Given the description of an element on the screen output the (x, y) to click on. 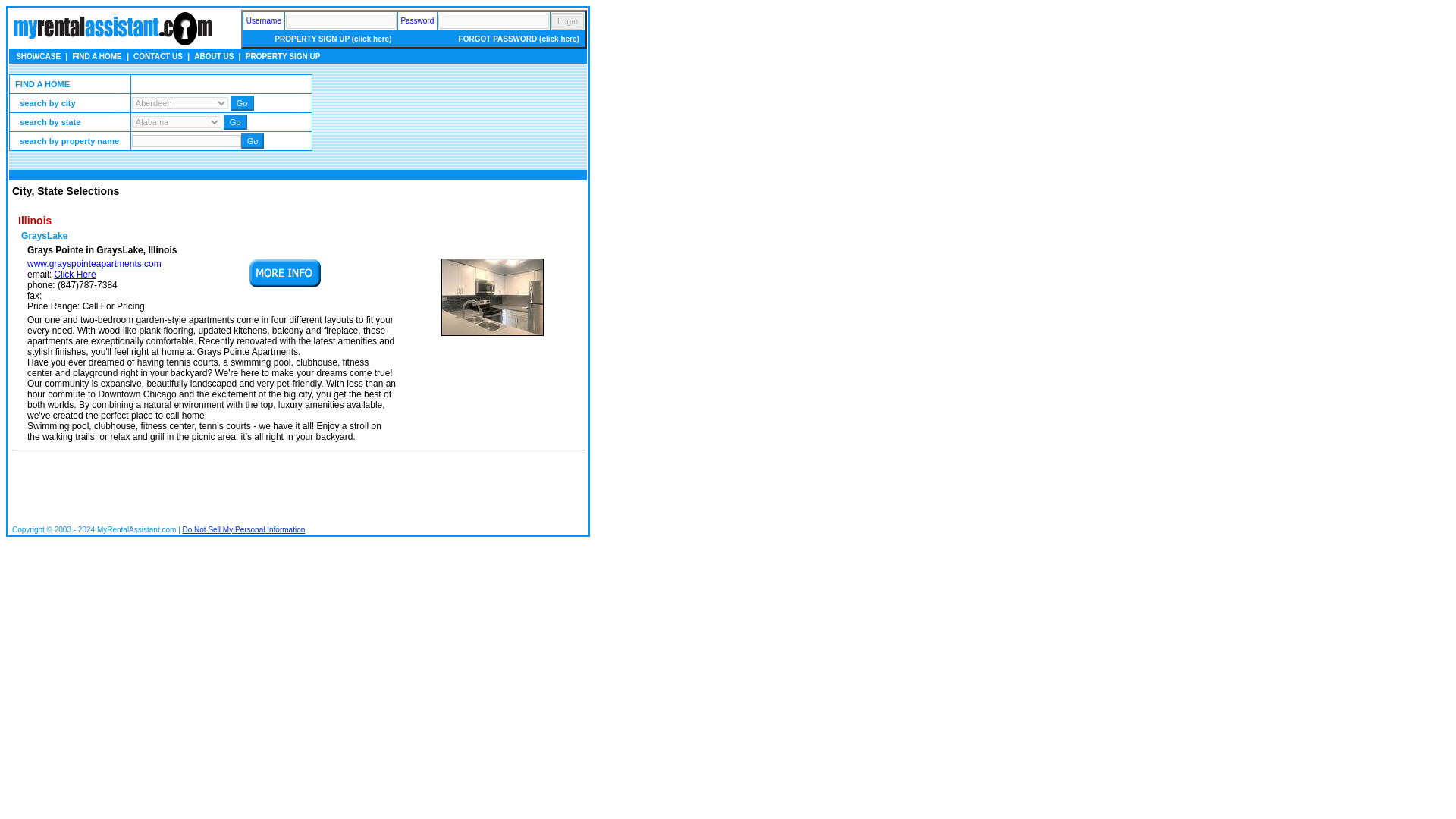
CONTACT US (158, 56)
Go (235, 120)
Go (241, 102)
PROPERTY SIGN UP (283, 56)
Login (567, 20)
Go (252, 140)
www.grayspointeapartments.com (94, 263)
Go (241, 102)
SHOWCASE (38, 56)
Login (567, 20)
Go (235, 120)
Go (252, 140)
ABOUT US (212, 56)
Click Here (74, 274)
FIND A HOME (95, 56)
